Given the description of an element on the screen output the (x, y) to click on. 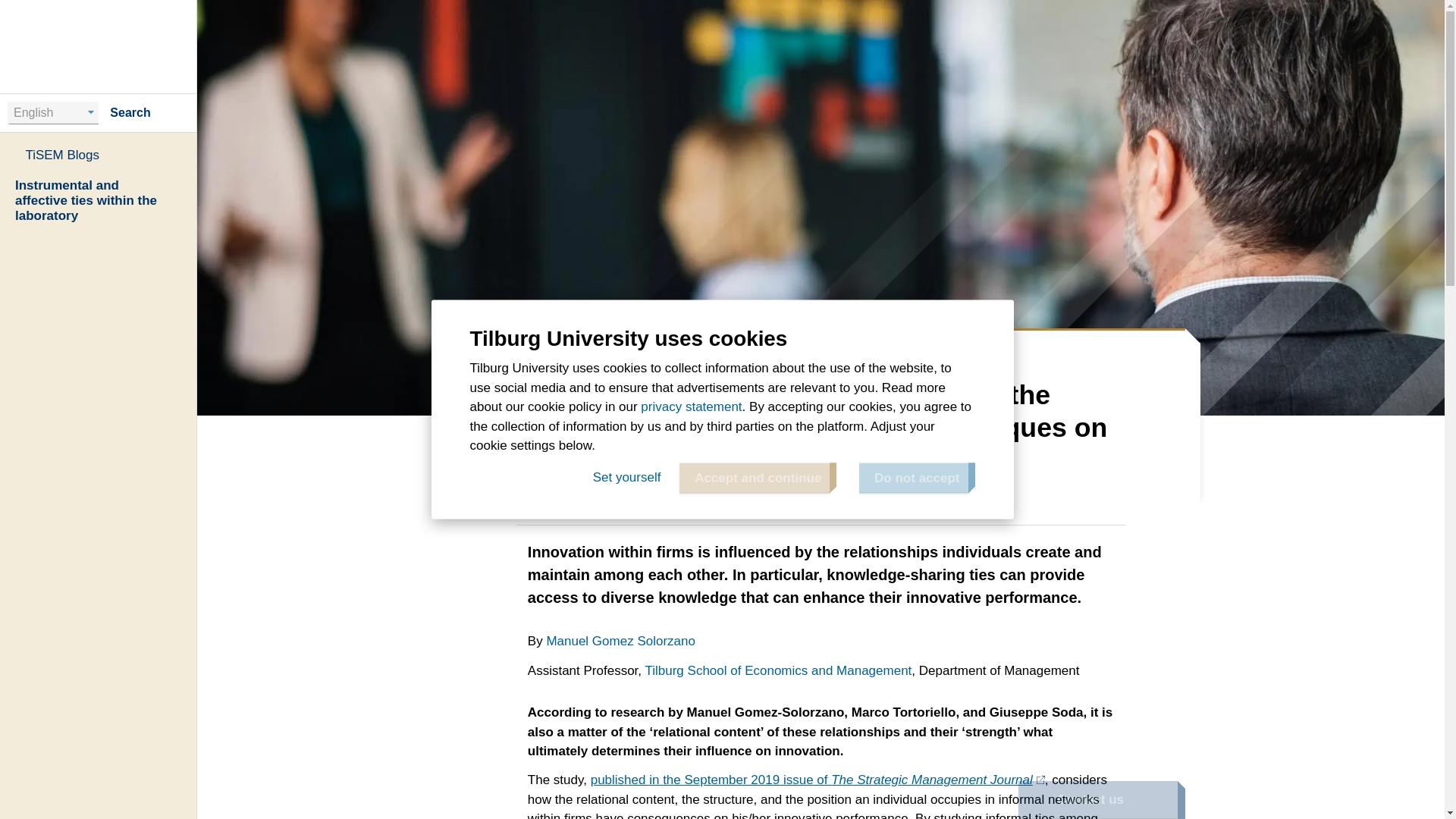
Economics and Management (690, 350)
TiSEM Blogs (98, 155)
Contact us (1096, 800)
Tilburg School of Economics and Management (778, 670)
Manuel Gomez Solorzano (620, 640)
Instrumental and affective ties within the laboratory (98, 200)
Tilburg School of Economics and Management (778, 670)
TiSEM Blogs (813, 350)
Home (98, 46)
Search (143, 112)
Tilburg University (518, 350)
Go to the homepage of (98, 46)
